Given the description of an element on the screen output the (x, y) to click on. 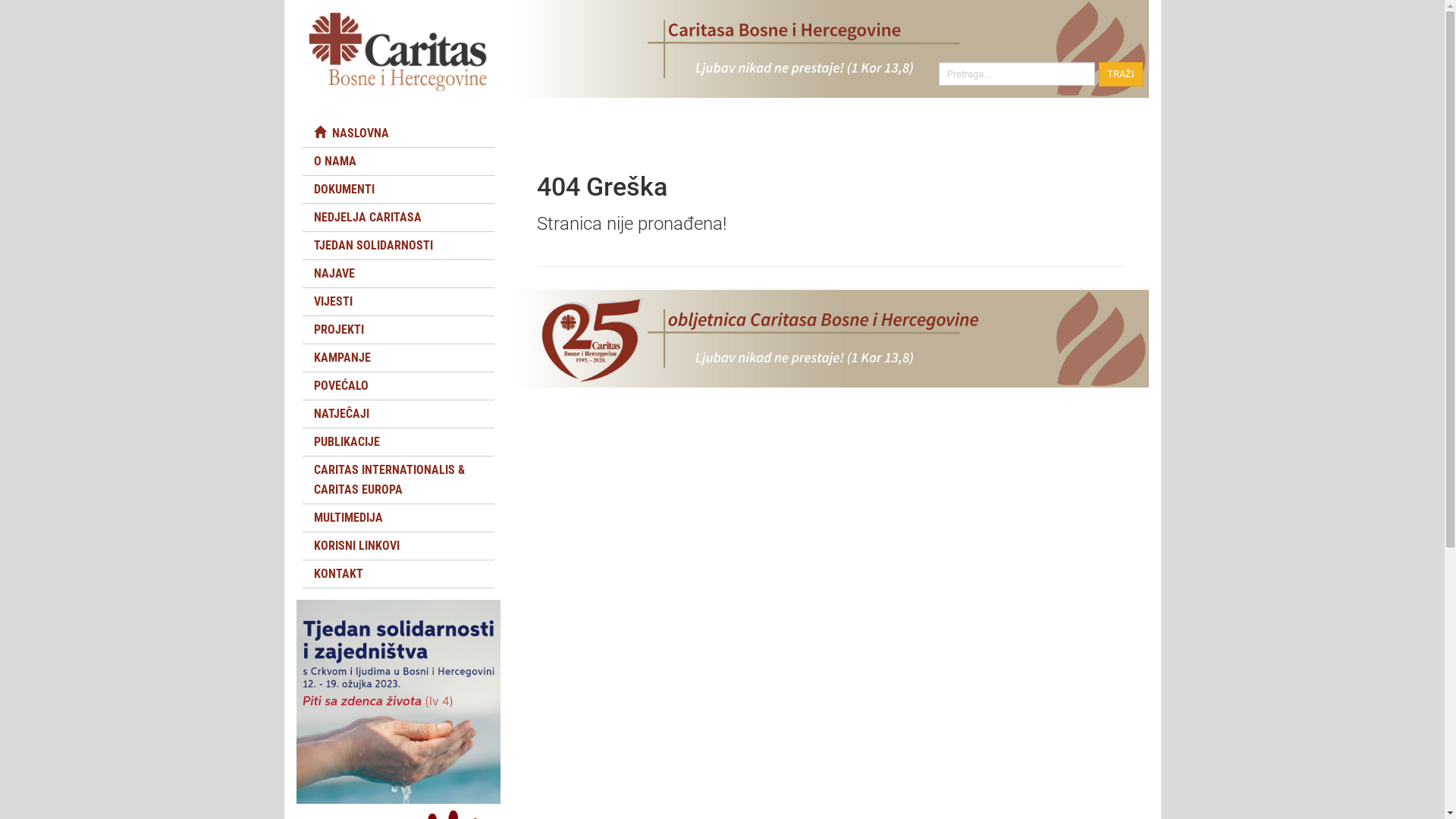
NAJAVE Element type: text (397, 273)
PROJEKTI Element type: text (397, 329)
MULTIMEDIJA Element type: text (397, 517)
PUBLIKACIJE Element type: text (397, 441)
TJEDAN SOLIDARNOSTI Element type: text (397, 245)
VIJESTI Element type: text (397, 301)
NEDJELJA CARITASA Element type: text (397, 217)
O NAMA Element type: text (397, 161)
DOKUMENTI Element type: text (397, 189)
  NASLOVNA Element type: text (397, 133)
KAMPANJE Element type: text (397, 357)
KONTAKT Element type: text (397, 573)
CARITAS INTERNATIONALIS & CARITAS EUROPA Element type: text (397, 479)
KORISNI LINKOVI Element type: text (397, 545)
